Given the description of an element on the screen output the (x, y) to click on. 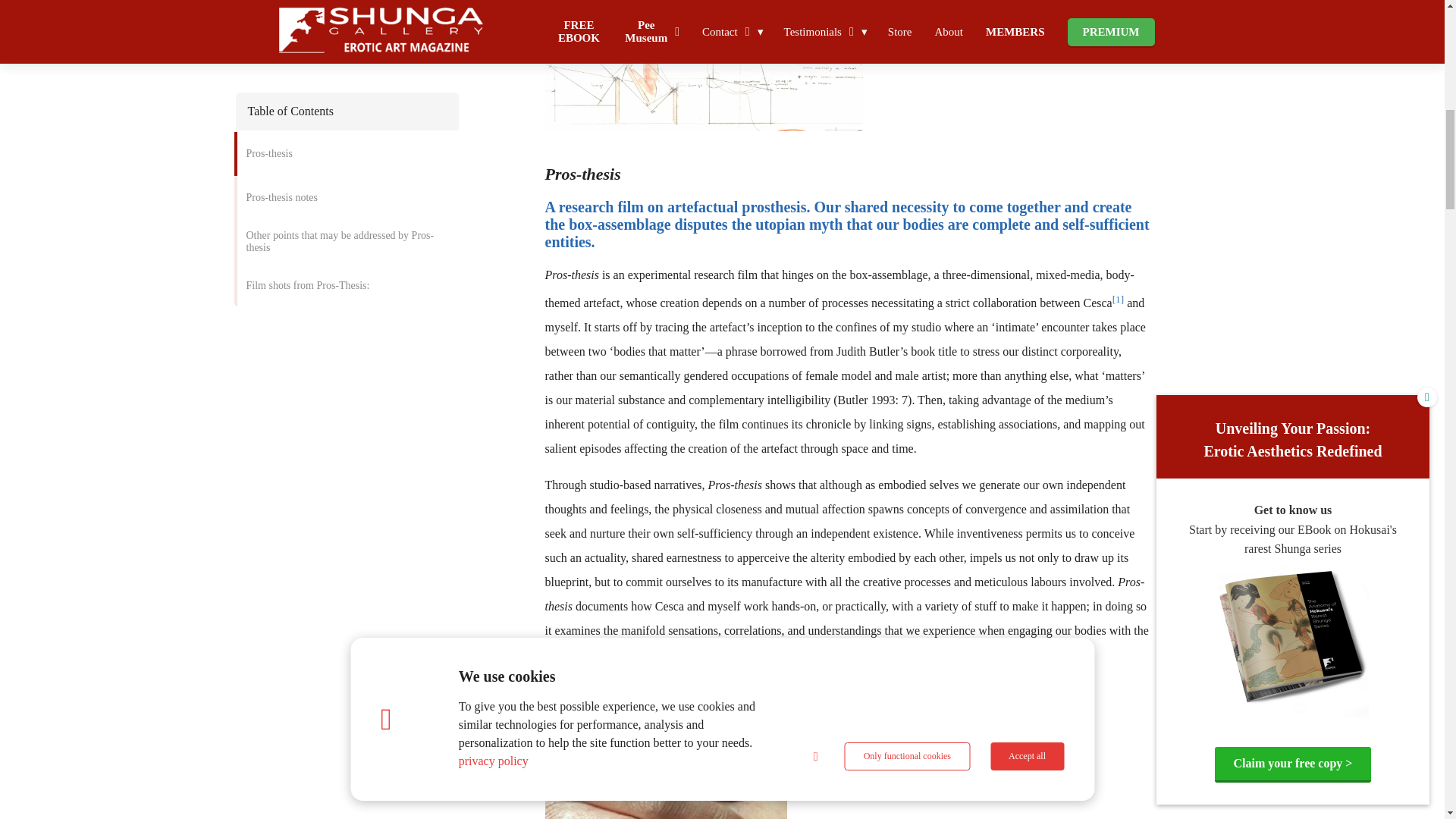
hand-holding-breast (665, 749)
Drawing prosthesis (703, 65)
